Given the description of an element on the screen output the (x, y) to click on. 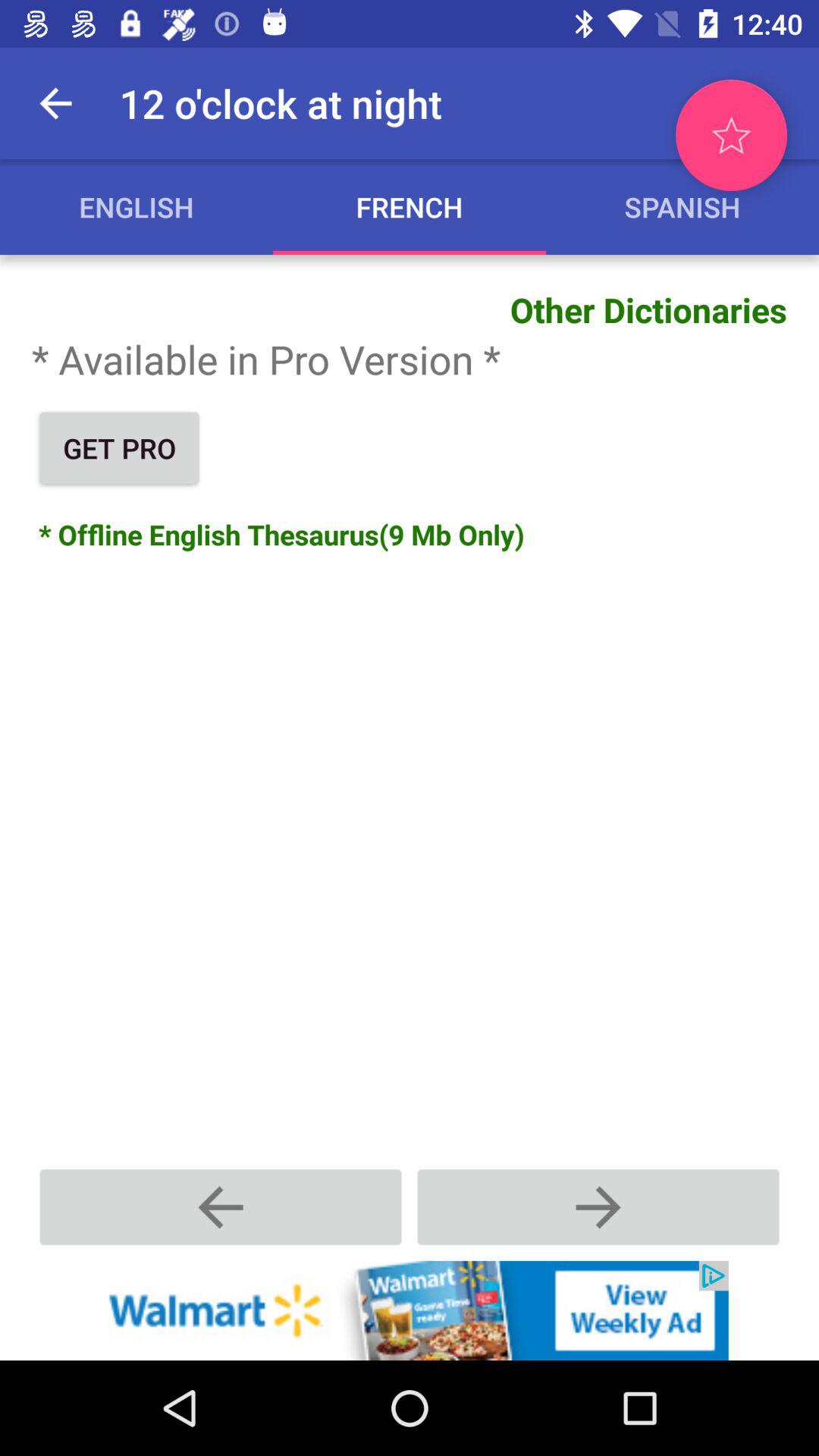
advertisement (409, 1310)
